Given the description of an element on the screen output the (x, y) to click on. 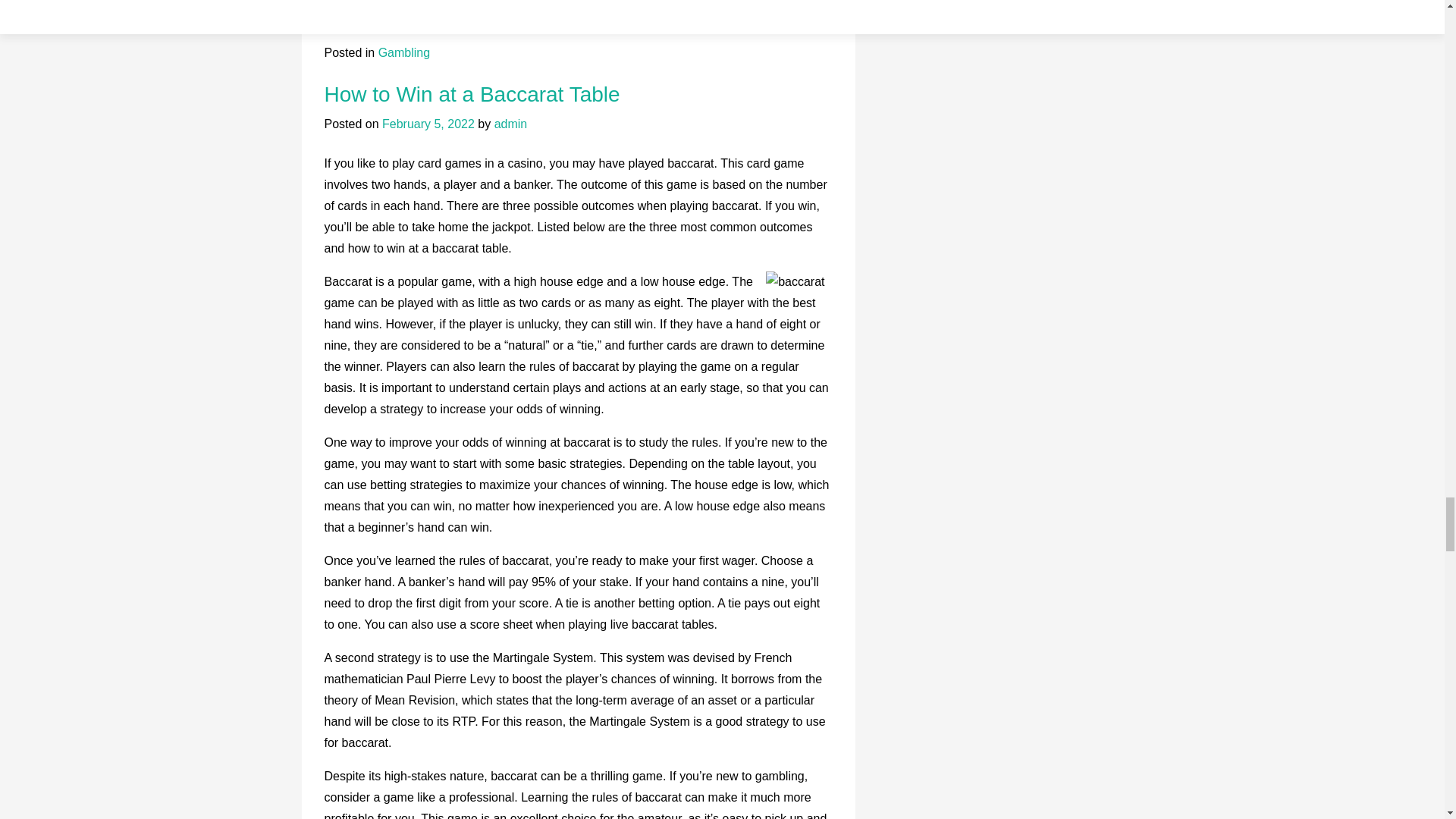
February 5, 2022 (427, 123)
admin (511, 123)
Gambling (403, 51)
How to Win at a Baccarat Table (472, 94)
